Given the description of an element on the screen output the (x, y) to click on. 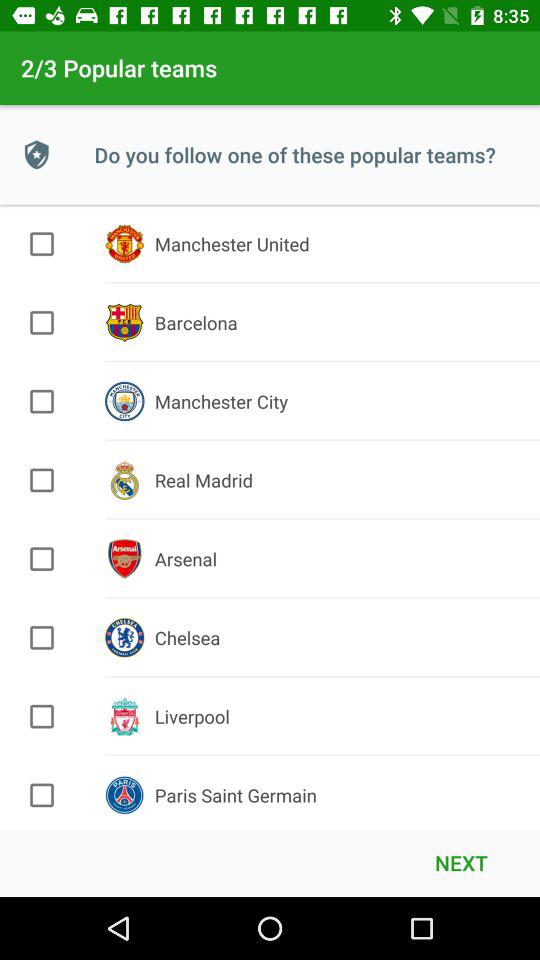
launch next at the bottom right corner (461, 862)
